Given the description of an element on the screen output the (x, y) to click on. 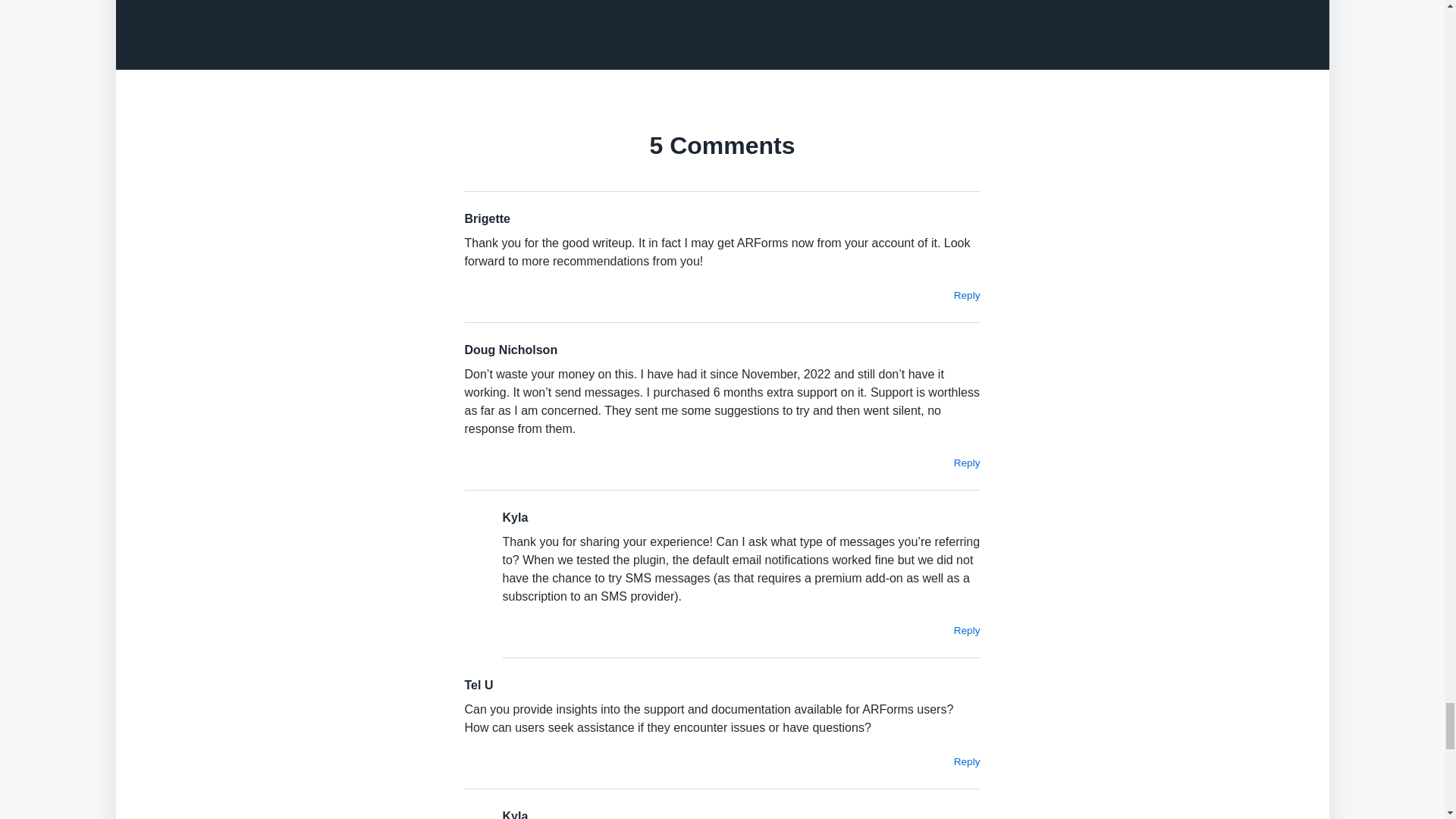
Reply (966, 462)
Reply (966, 761)
Reply (966, 630)
Reply (966, 295)
